Given the description of an element on the screen output the (x, y) to click on. 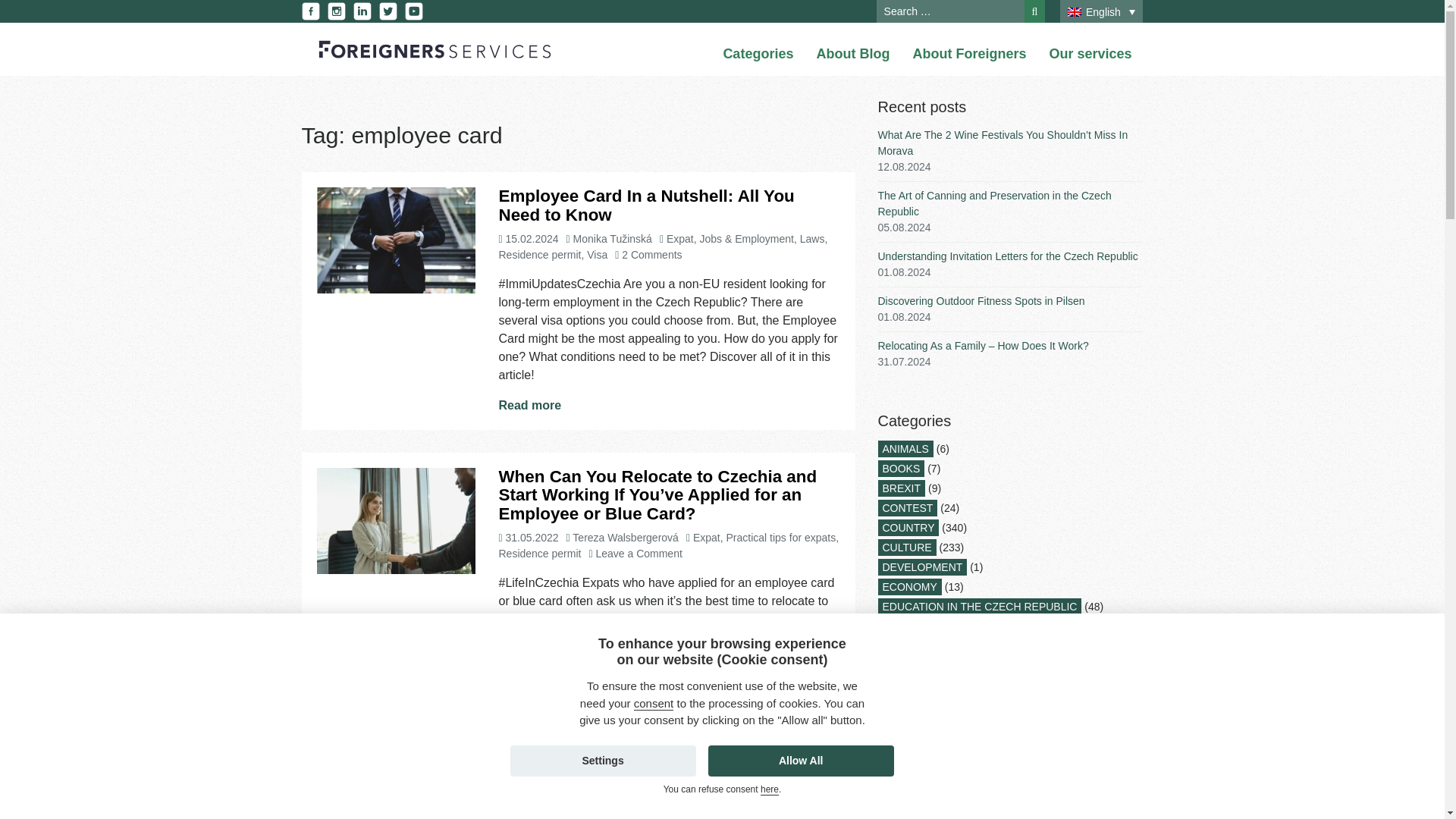
31.05.2022 (531, 537)
Visa (596, 254)
Expat (706, 537)
Categories (757, 54)
Expat (680, 238)
Employee Card In a Nutshell: All You Need to Know (645, 205)
Practical tips for expats (780, 537)
Read more (528, 404)
